Given the description of an element on the screen output the (x, y) to click on. 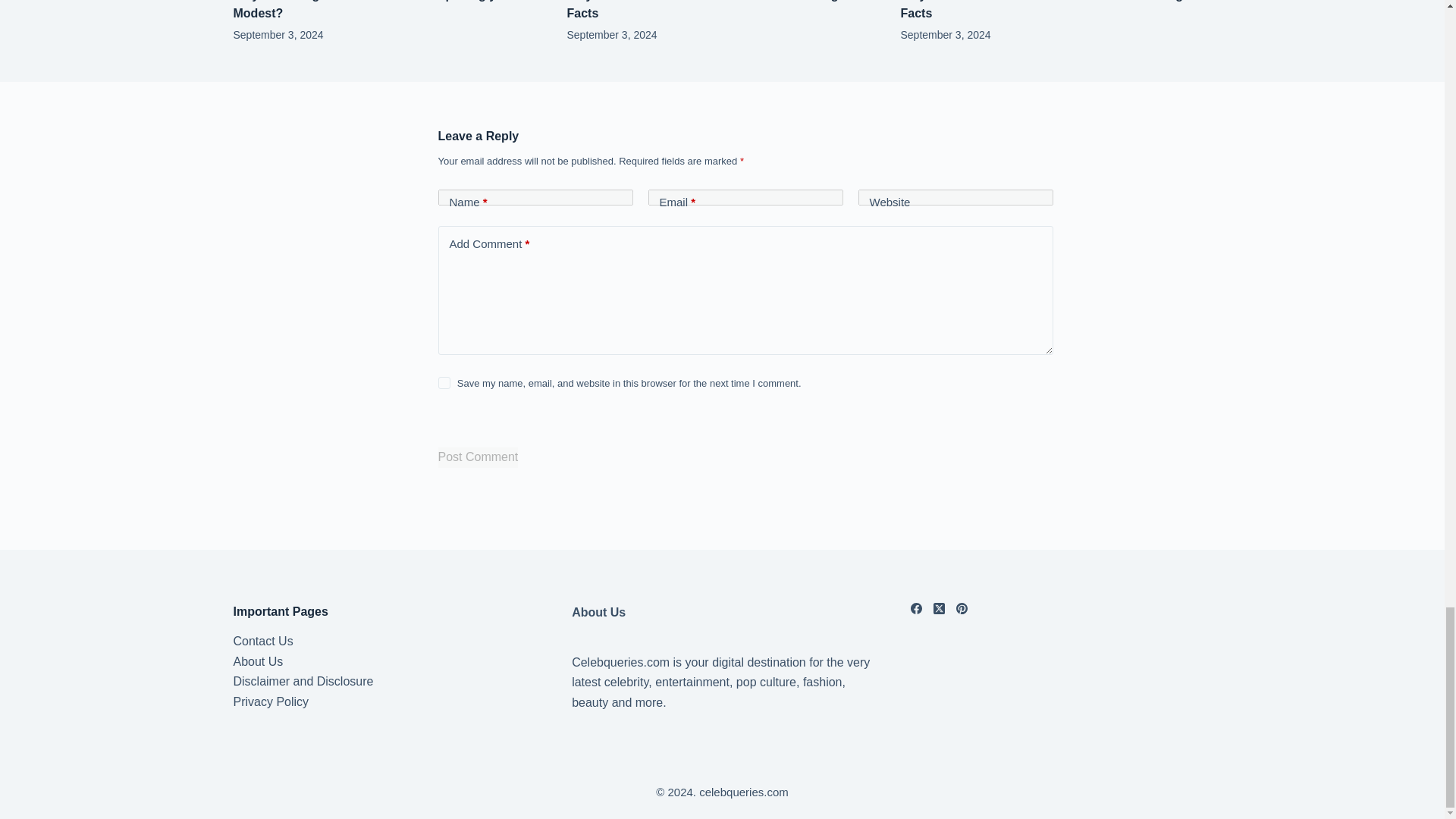
Why Evan Peters Net Worth So Low? Unveiling the Facts (713, 9)
Disclaimer and Disclosure (303, 680)
Contact Us (263, 640)
About Us (257, 661)
Privacy Policy (270, 701)
Post Comment (478, 456)
yes (443, 382)
